Given the description of an element on the screen output the (x, y) to click on. 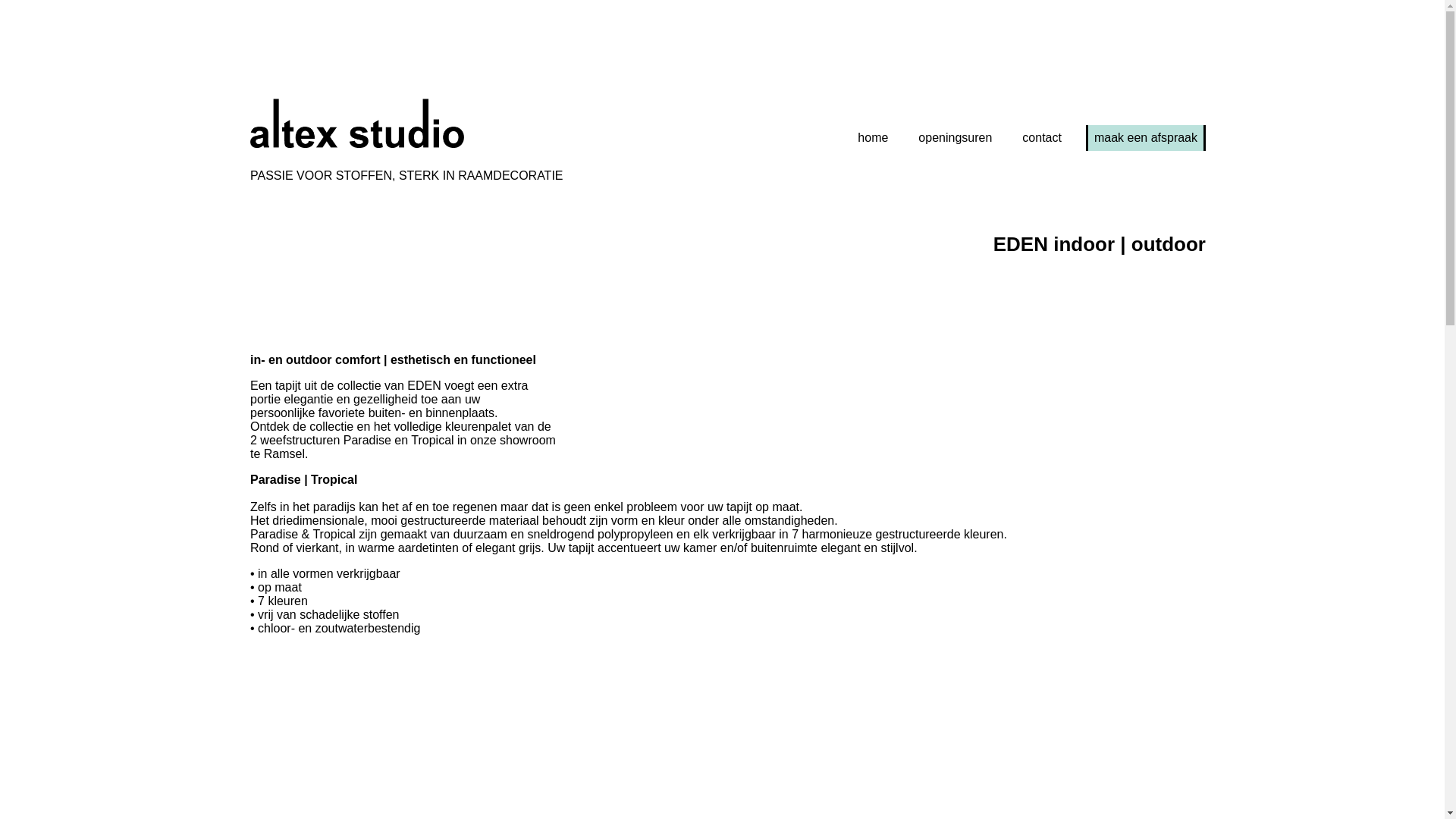
maak een afspraak Element type: text (1145, 137)
openingsuren Element type: text (954, 137)
contact Element type: text (1041, 137)
home Element type: text (872, 137)
